Given the description of an element on the screen output the (x, y) to click on. 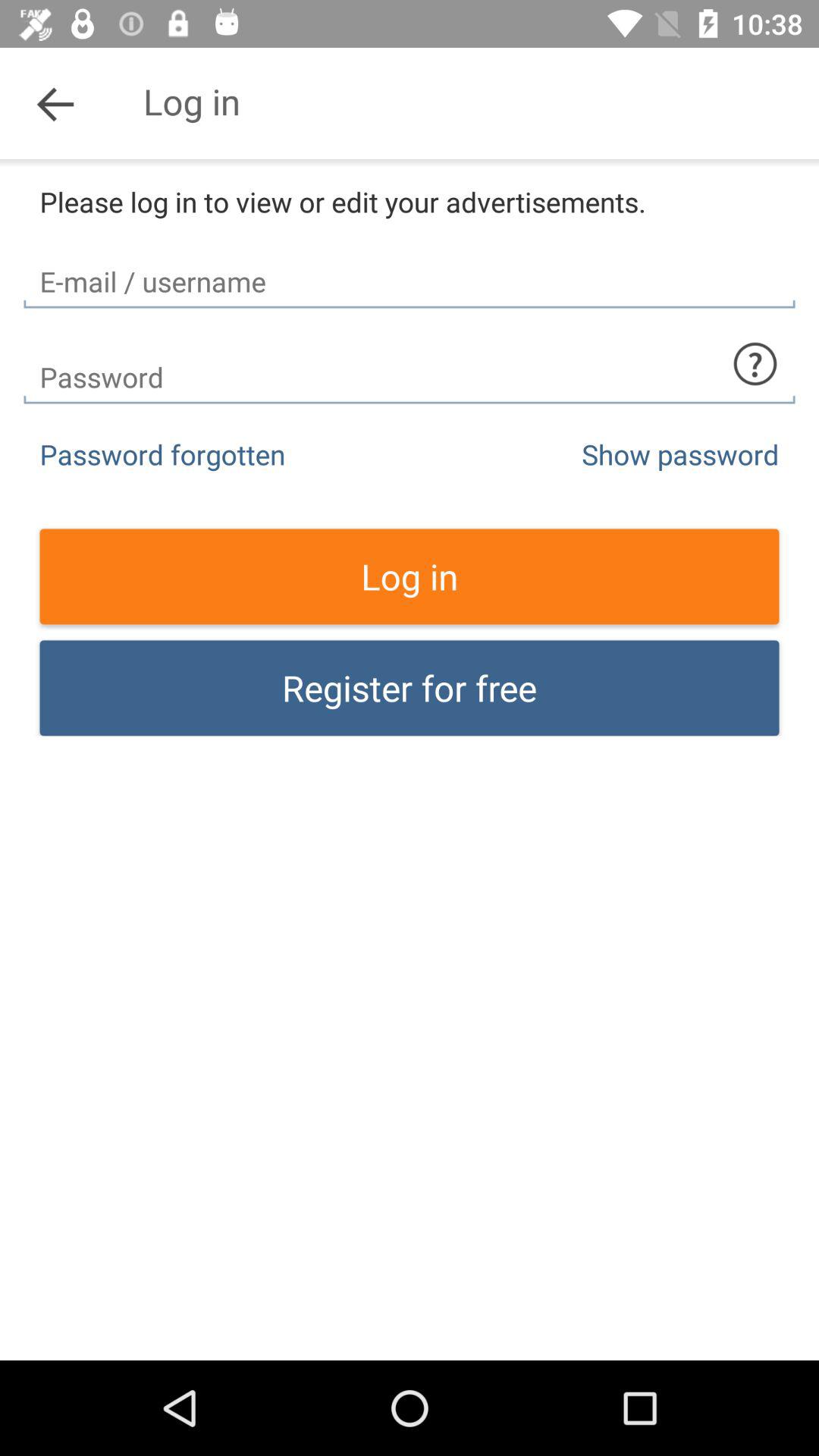
tap the icon next to the log in item (55, 103)
